Given the description of an element on the screen output the (x, y) to click on. 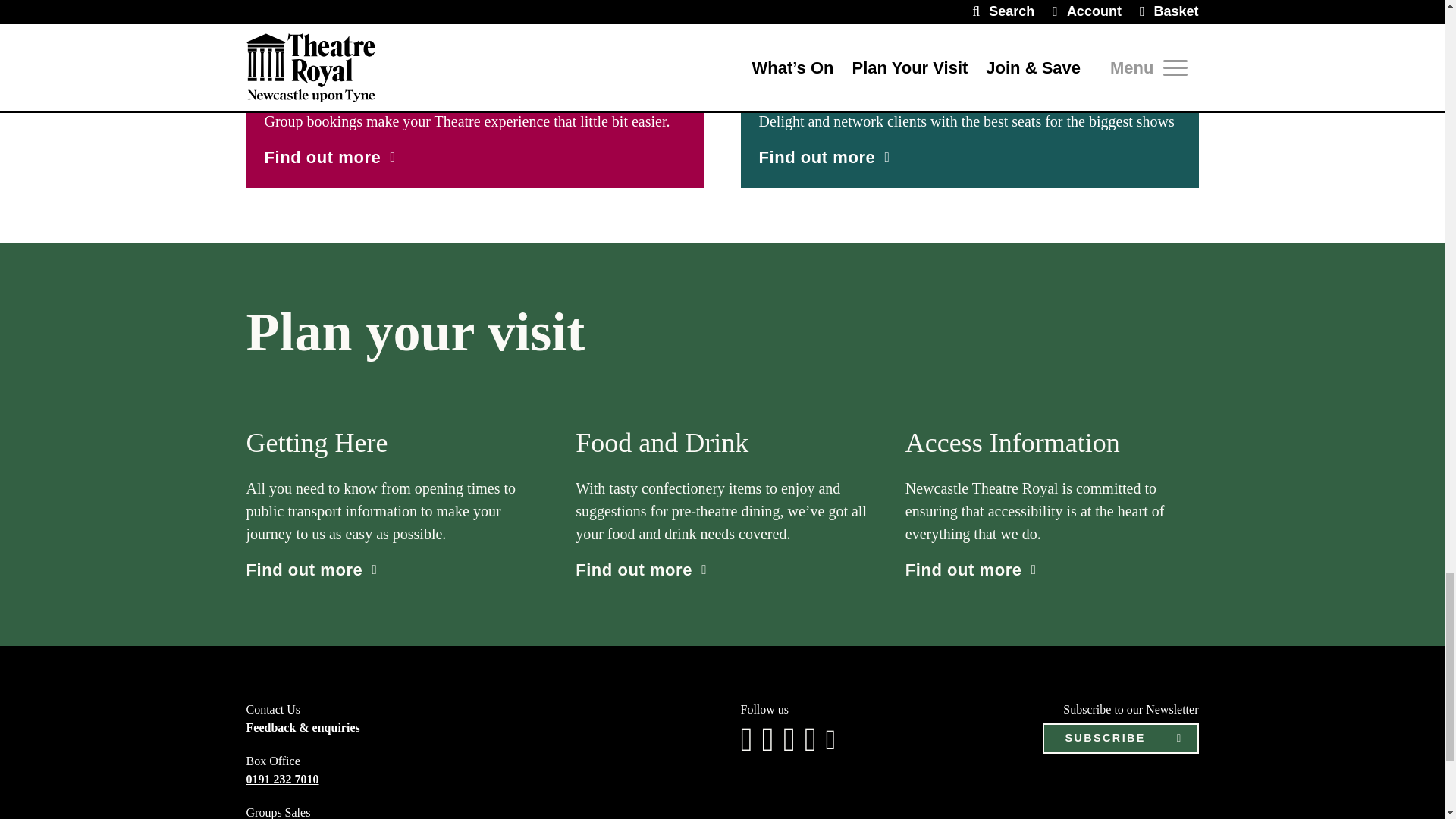
Newcastle Theatre Royal (474, 3)
Newcastle Theatre Royal (968, 3)
